Given the description of an element on the screen output the (x, y) to click on. 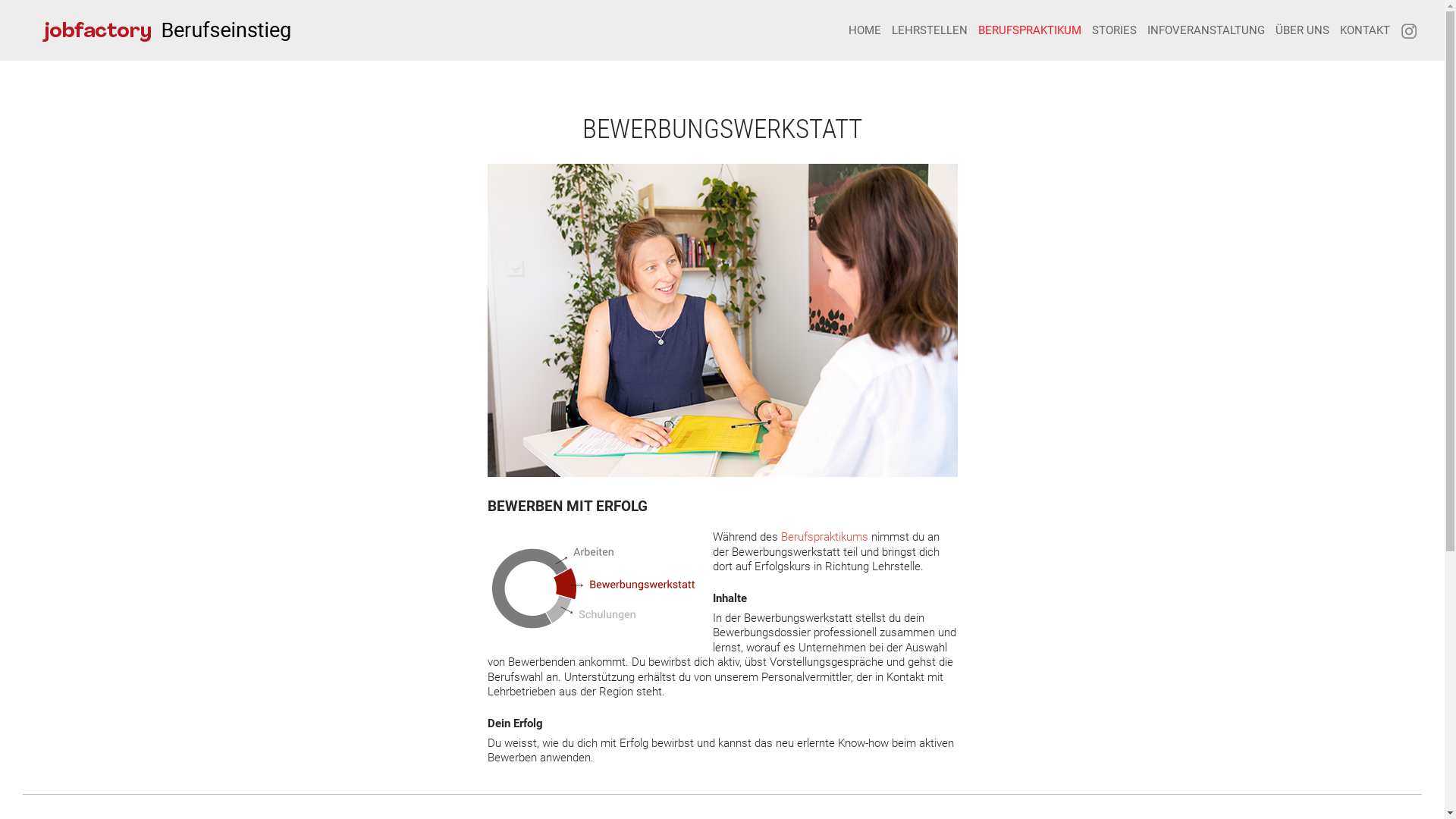
STORIES Element type: text (1114, 30)
HOME Element type: text (864, 30)
BERUFSPRAKTIKUM Element type: text (1029, 30)
INFOVERANSTALTUNG Element type: text (1205, 30)
LEHRSTELLEN Element type: text (929, 30)
KONTAKT Element type: text (1364, 30)
Berufspraktikums Element type: text (824, 536)
Jobfactory Berufseinstieg - Instagram Element type: hover (1408, 36)
